Given the description of an element on the screen output the (x, y) to click on. 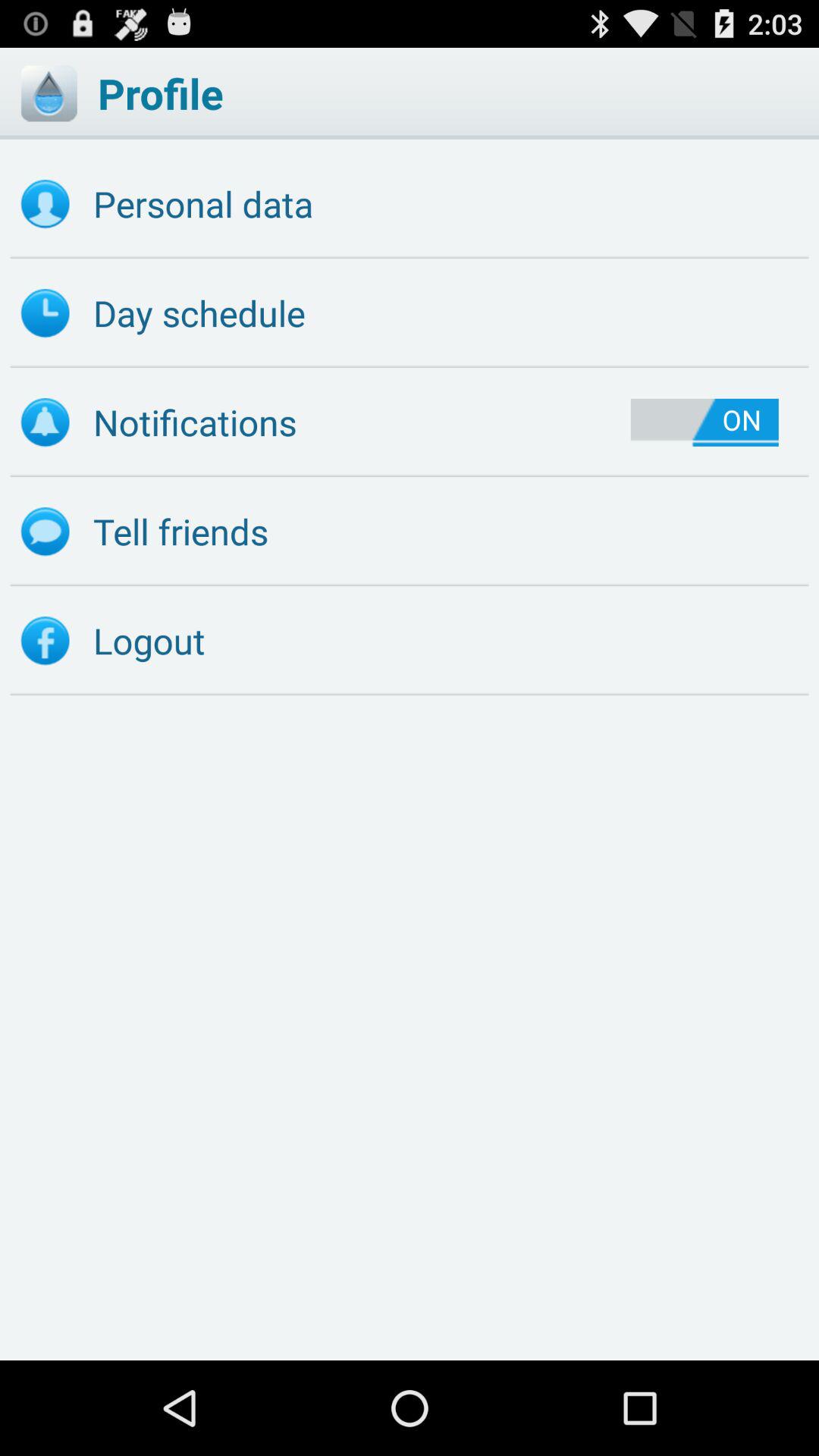
press icon to the left of the on (325, 422)
